Given the description of an element on the screen output the (x, y) to click on. 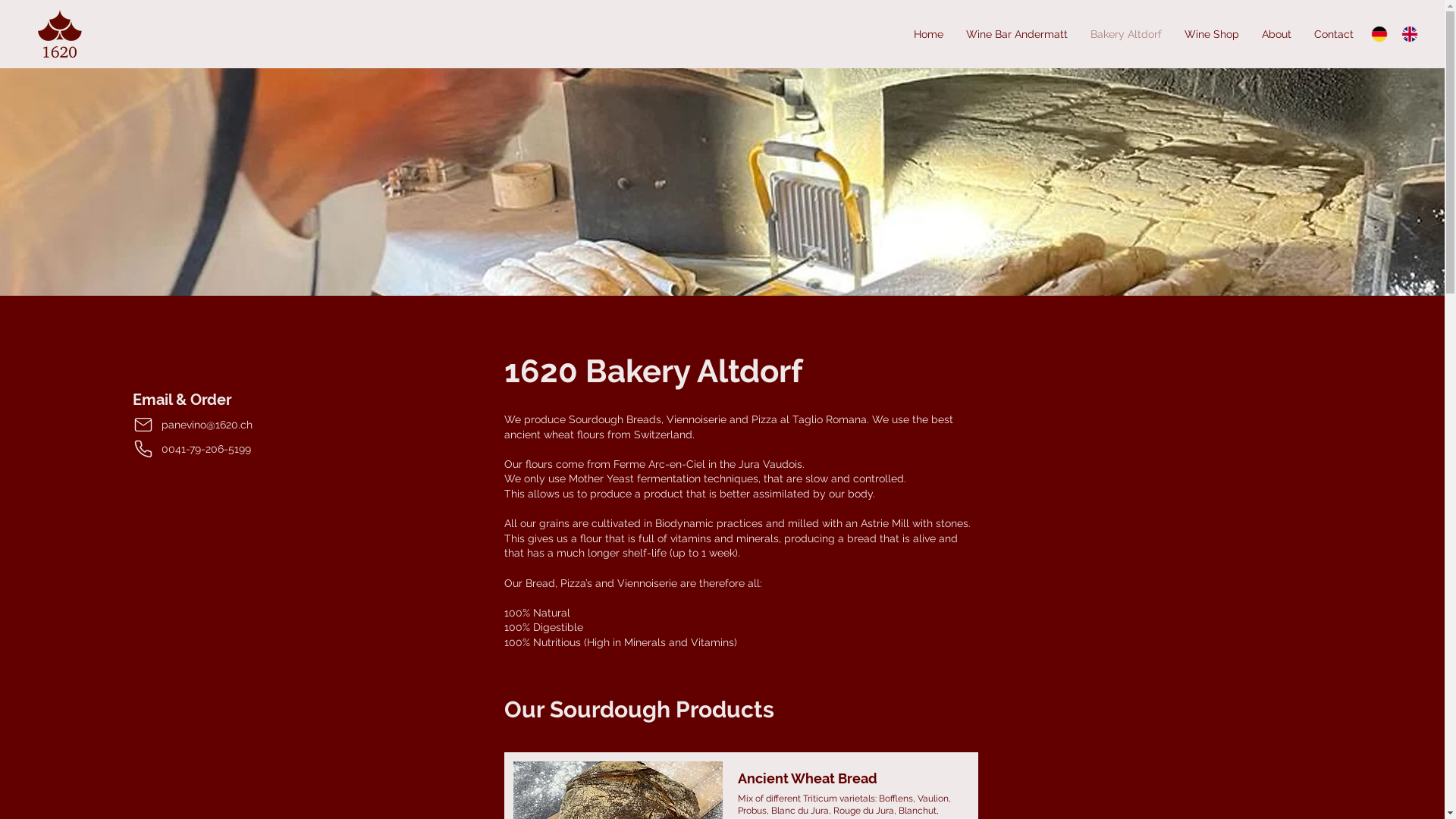
About Element type: text (1276, 34)
Wine Bar Andermatt Element type: text (1016, 34)
panevino@1620.ch Element type: text (210, 424)
Bakery Altdorf Element type: text (1126, 34)
Home Element type: text (928, 34)
Wine Shop Element type: text (1211, 34)
0041-79-206-5199 Element type: text (210, 448)
Contact Element type: text (1333, 34)
